Given the description of an element on the screen output the (x, y) to click on. 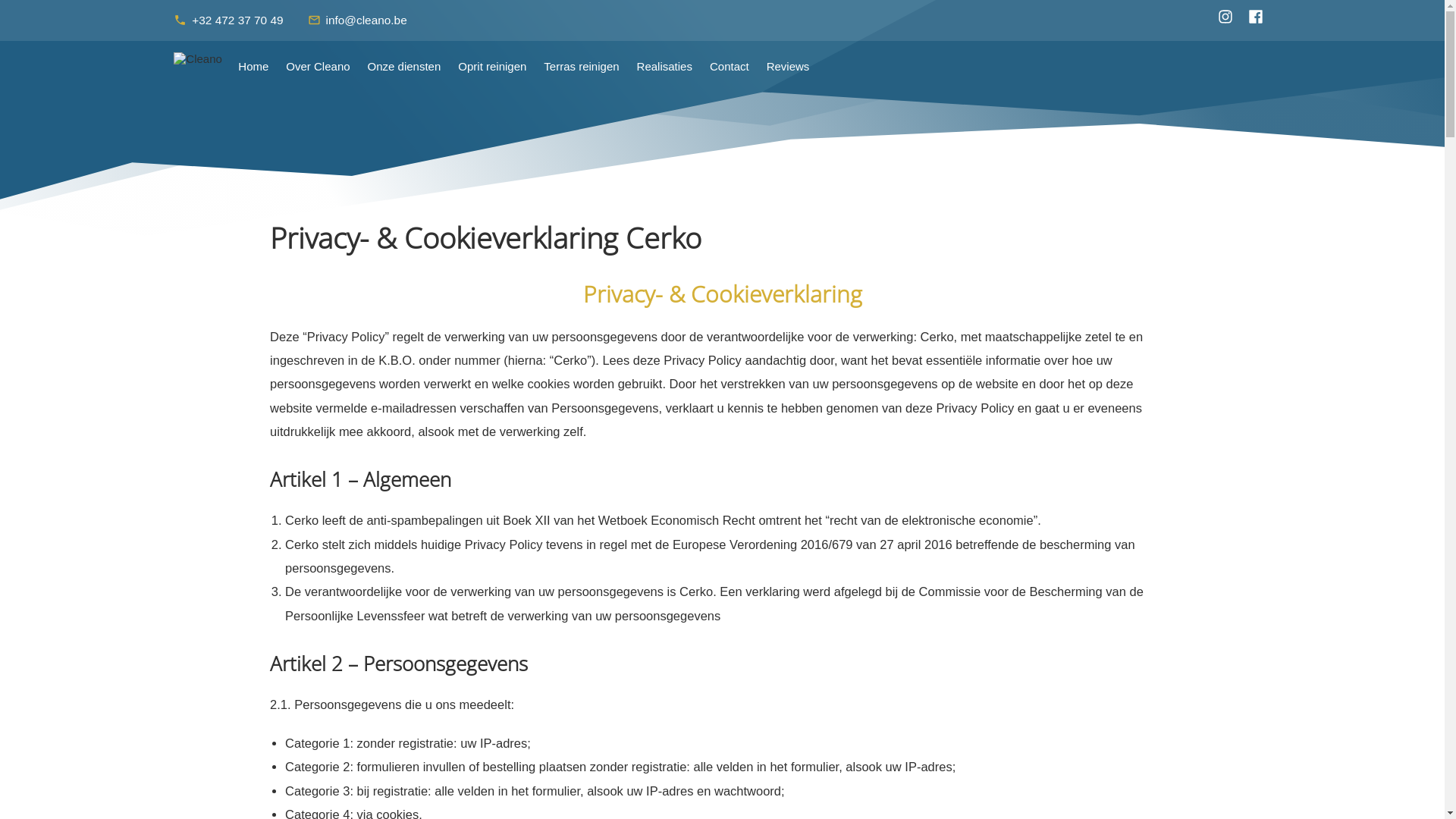
Terras reinigen Element type: text (581, 66)
Reviews Element type: text (787, 66)
Cleano Facebook Element type: hover (1255, 16)
Onze diensten Element type: text (403, 66)
Cleano Instagram Element type: hover (1225, 16)
Oprit reinigen Element type: text (492, 66)
mail_outline
info@cleano.be Element type: text (364, 20)
phone
+32 472 37 70 49 Element type: text (235, 20)
Cleano Element type: hover (197, 58)
Realisaties Element type: text (663, 66)
Over Cleano Element type: text (317, 66)
Home Element type: text (253, 66)
Contact Element type: text (728, 66)
